Given the description of an element on the screen output the (x, y) to click on. 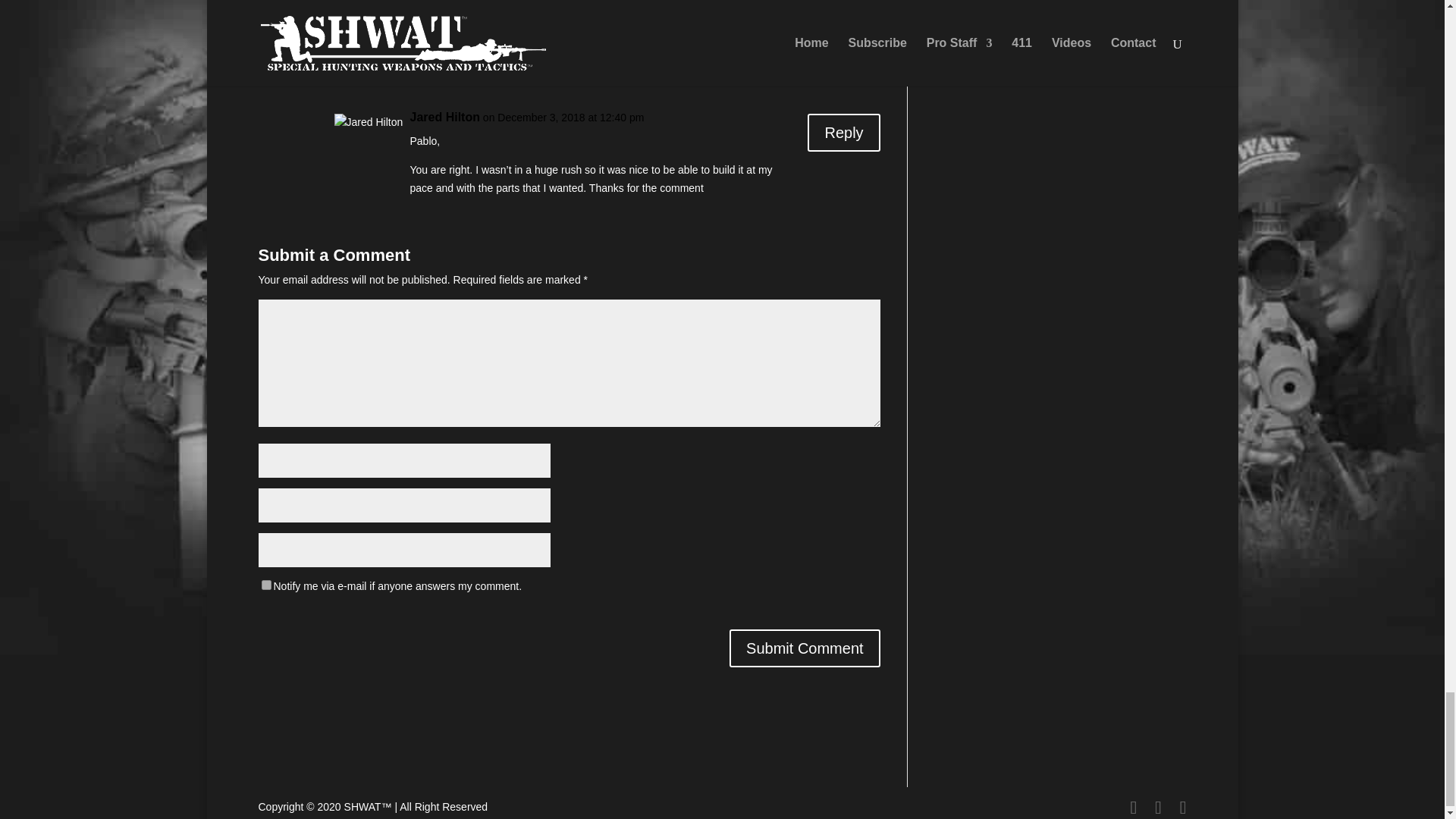
on (265, 584)
Submit Comment (804, 648)
